Given the description of an element on the screen output the (x, y) to click on. 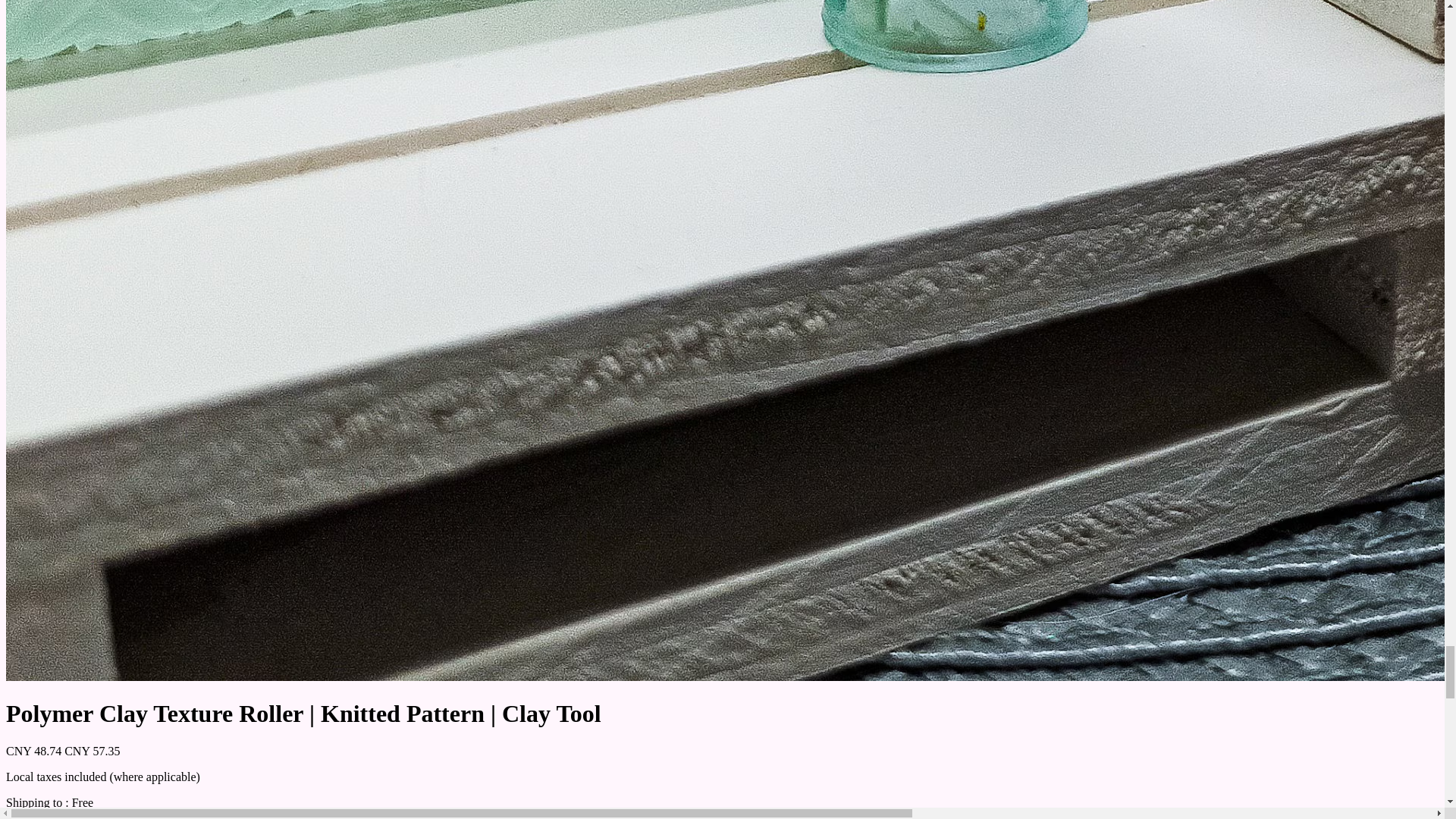
Calculate Shipping (52, 814)
